Given the description of an element on the screen output the (x, y) to click on. 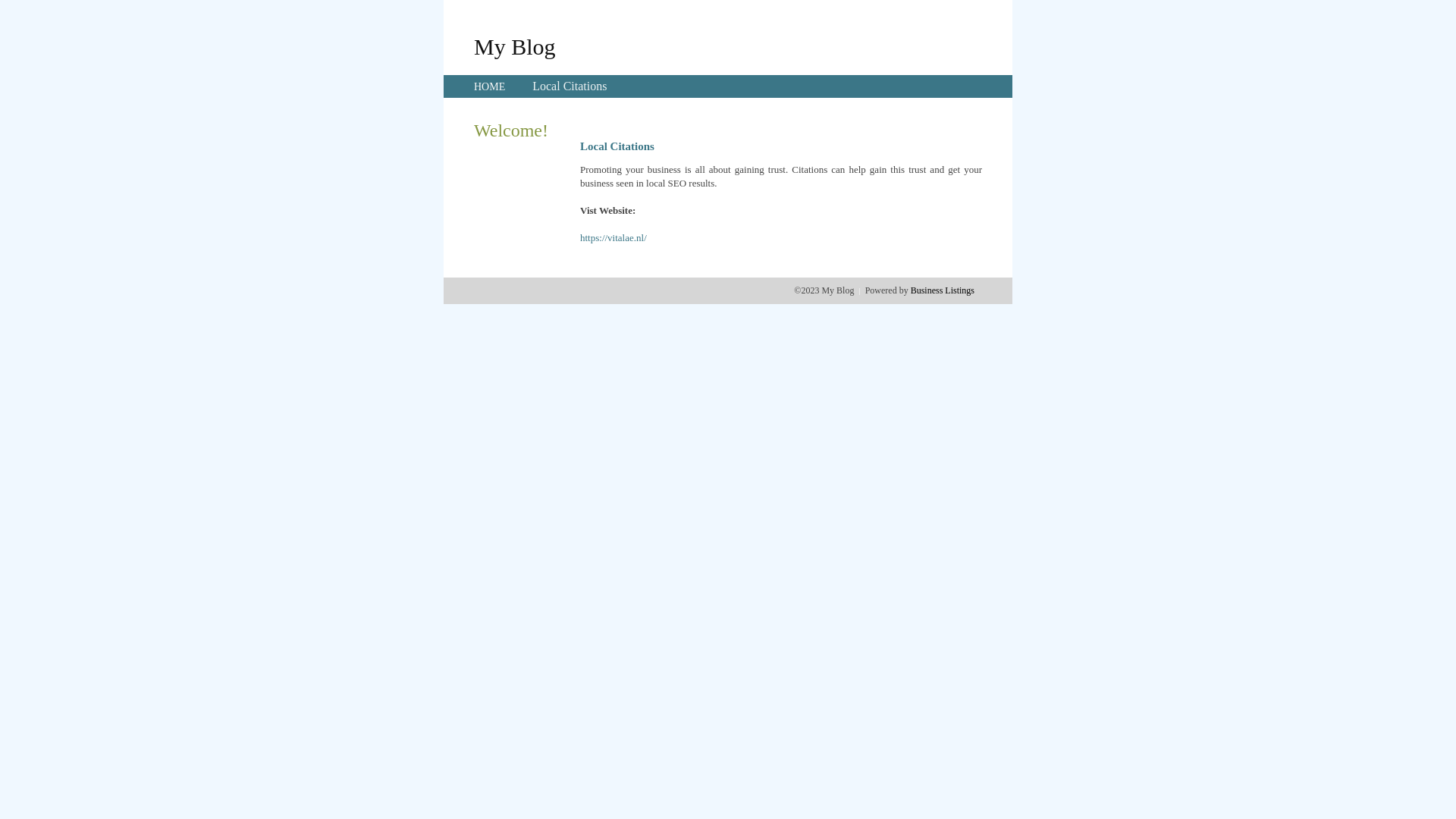
Business Listings Element type: text (942, 290)
https://vitalae.nl/ Element type: text (613, 237)
My Blog Element type: text (514, 46)
Local Citations Element type: text (569, 85)
HOME Element type: text (489, 86)
